Given the description of an element on the screen output the (x, y) to click on. 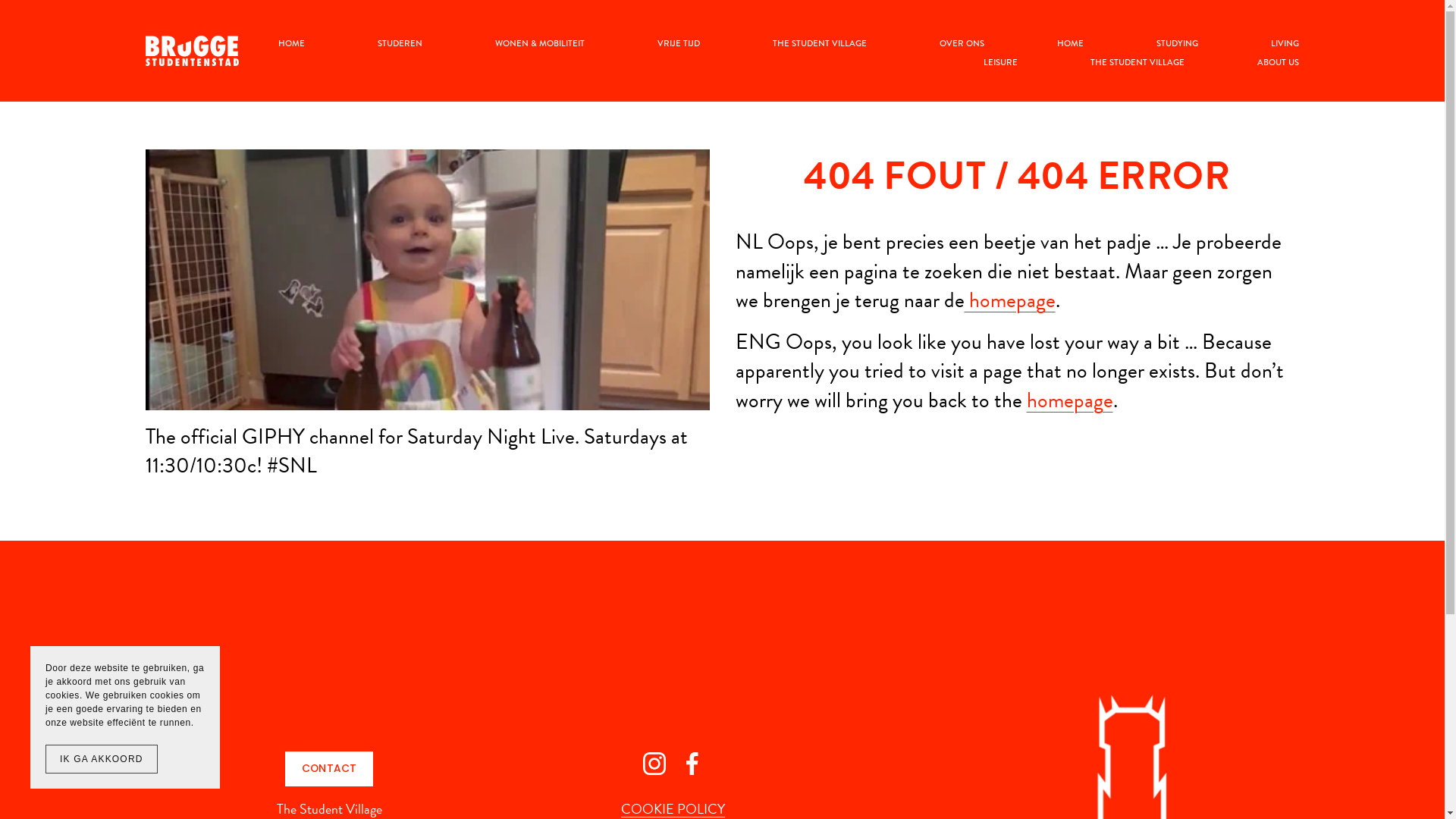
VRIJE TIJD Element type: text (678, 43)
STUDEREN Element type: text (399, 43)
CONTACT Element type: text (329, 768)
ABOUT US Element type: text (1278, 62)
WONEN & MOBILITEIT Element type: text (539, 43)
STUDYING Element type: text (1177, 43)
LEISURE Element type: text (1000, 62)
LIVING Element type: text (1284, 43)
OVER ONS Element type: text (961, 43)
IK GA AKKOORD Element type: text (101, 758)
homepage Element type: text (1009, 299)
THE STUDENT VILLAGE Element type: text (1137, 62)
THE STUDENT VILLAGE Element type: text (819, 43)
HOME Element type: text (291, 43)
homepage Element type: text (1069, 399)
Giphy embed Element type: hover (427, 279)
HOME Element type: text (1070, 43)
